Given the description of an element on the screen output the (x, y) to click on. 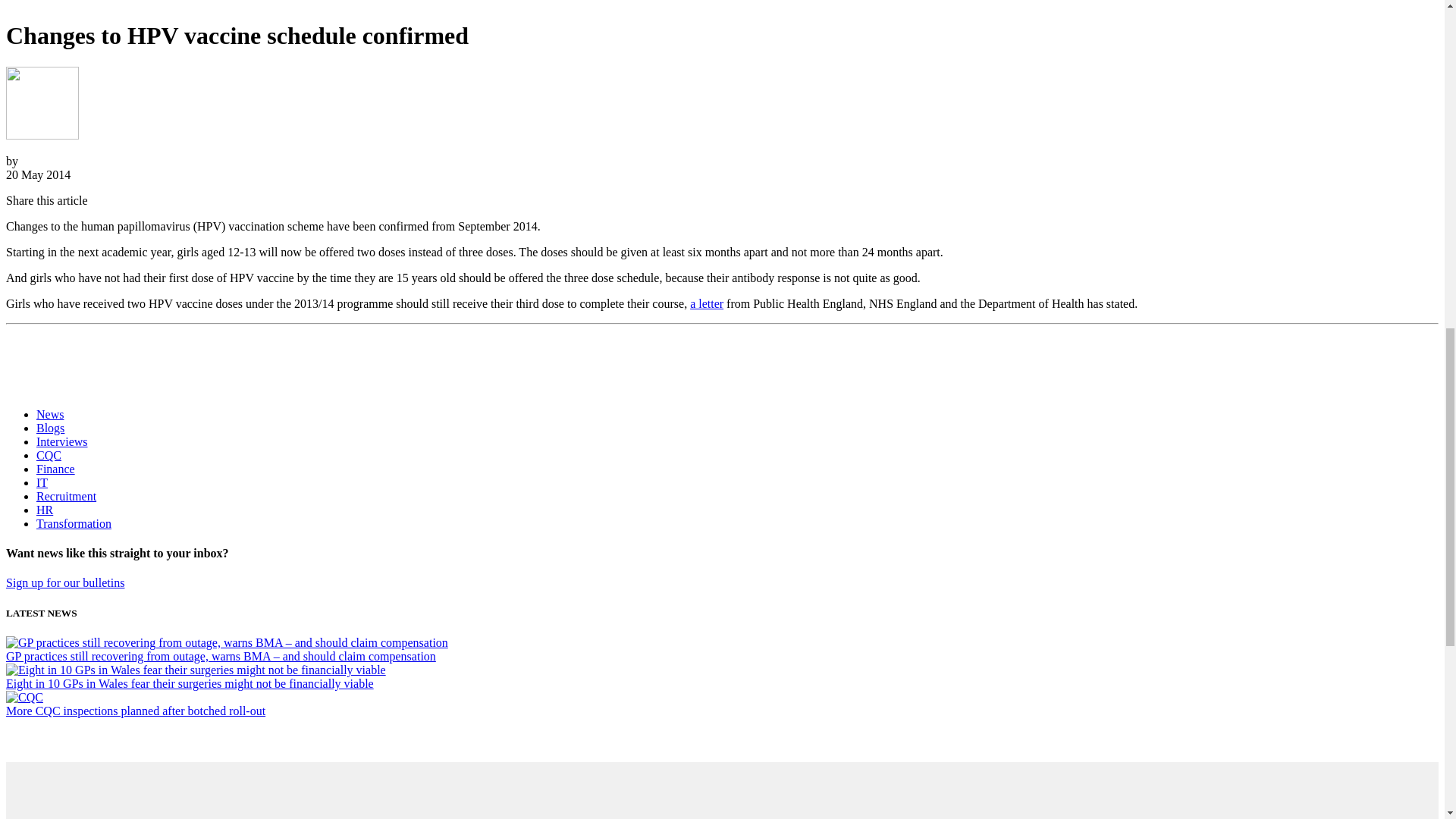
Sign up for our bulletins (64, 582)
